Given the description of an element on the screen output the (x, y) to click on. 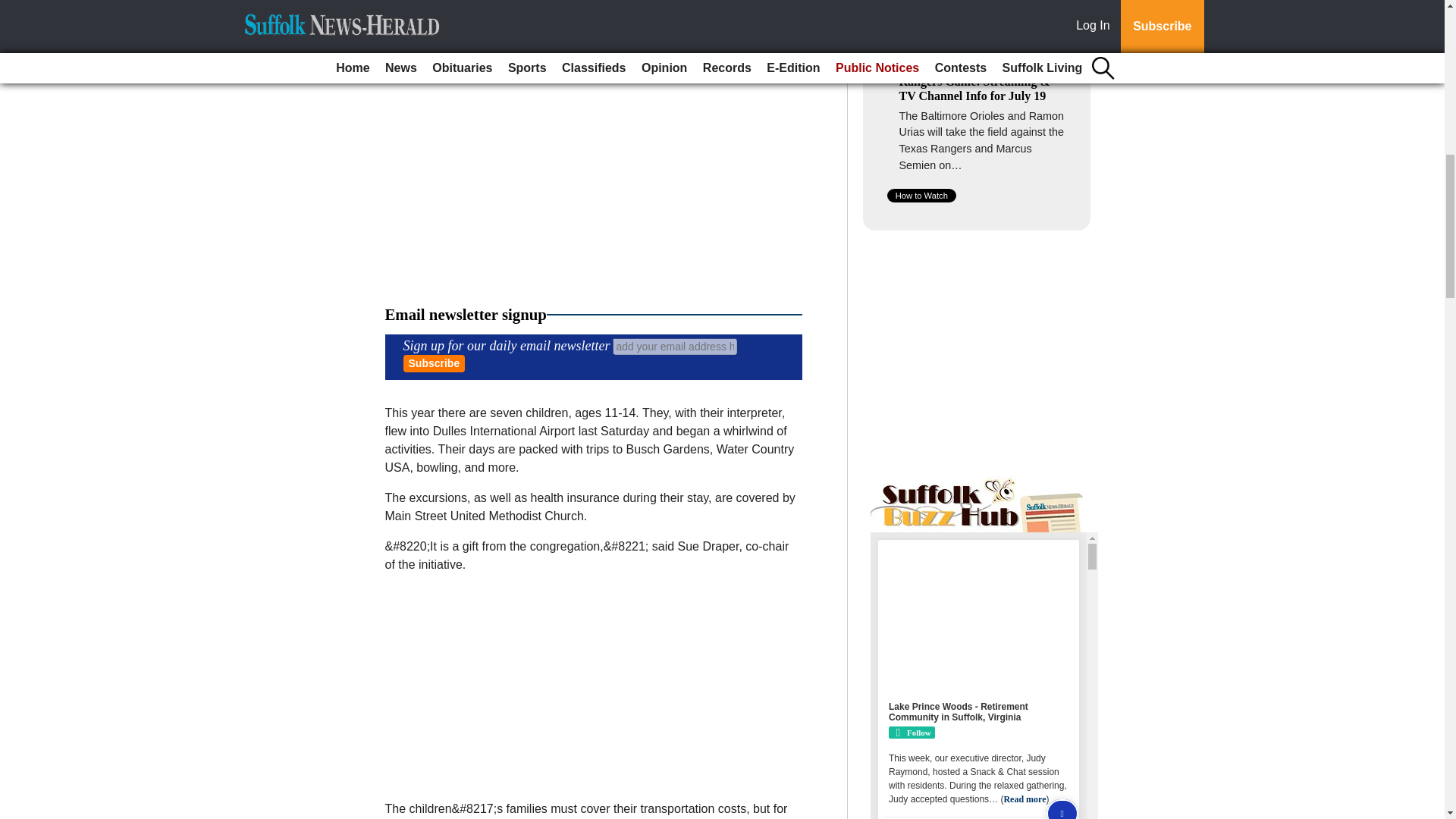
Subscribe (434, 363)
Subscribe (434, 363)
How to Watch (921, 195)
